Given the description of an element on the screen output the (x, y) to click on. 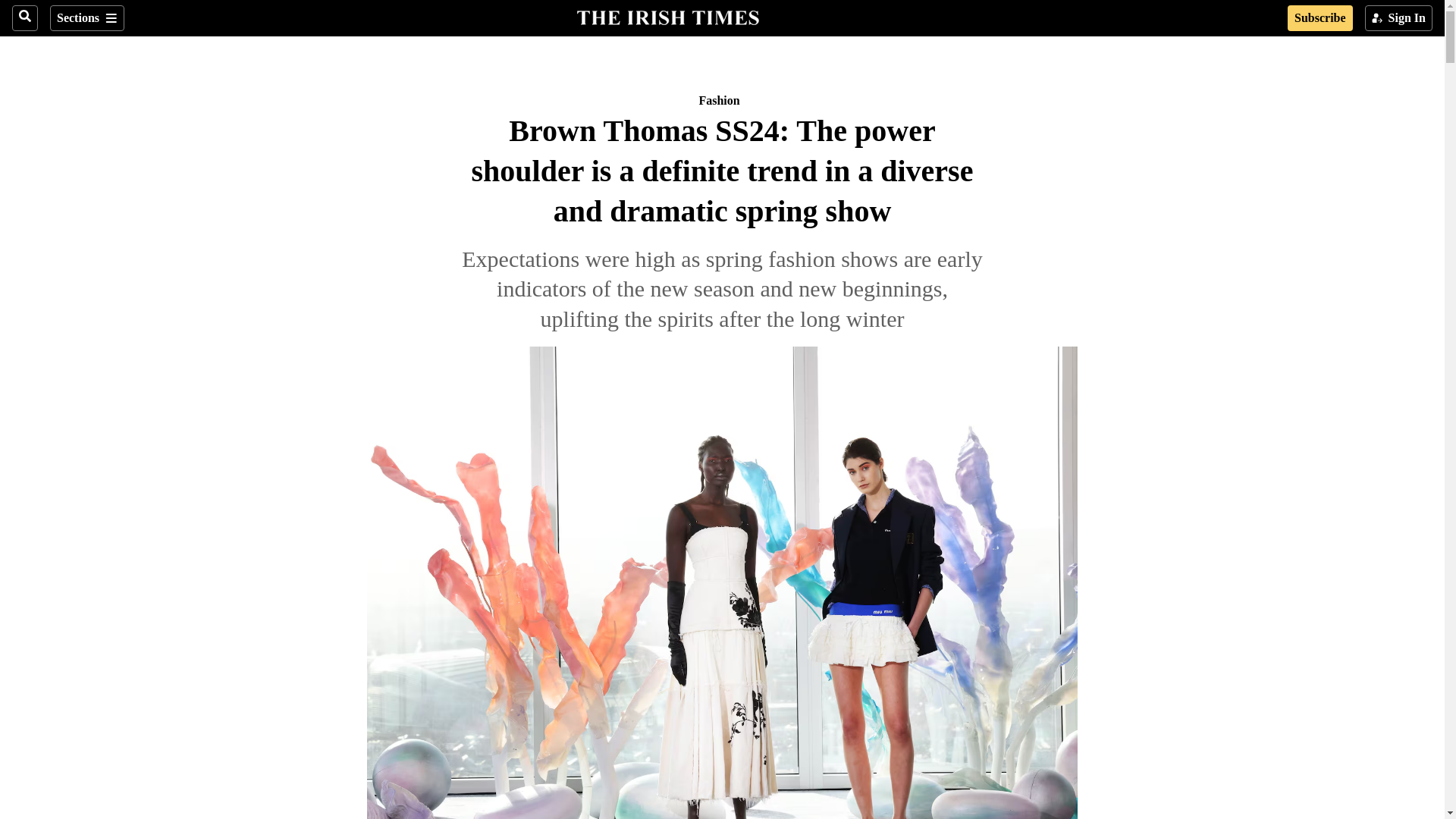
The Irish Times (667, 16)
Sign In (1398, 17)
Subscribe (1319, 17)
Sections (86, 17)
